Given the description of an element on the screen output the (x, y) to click on. 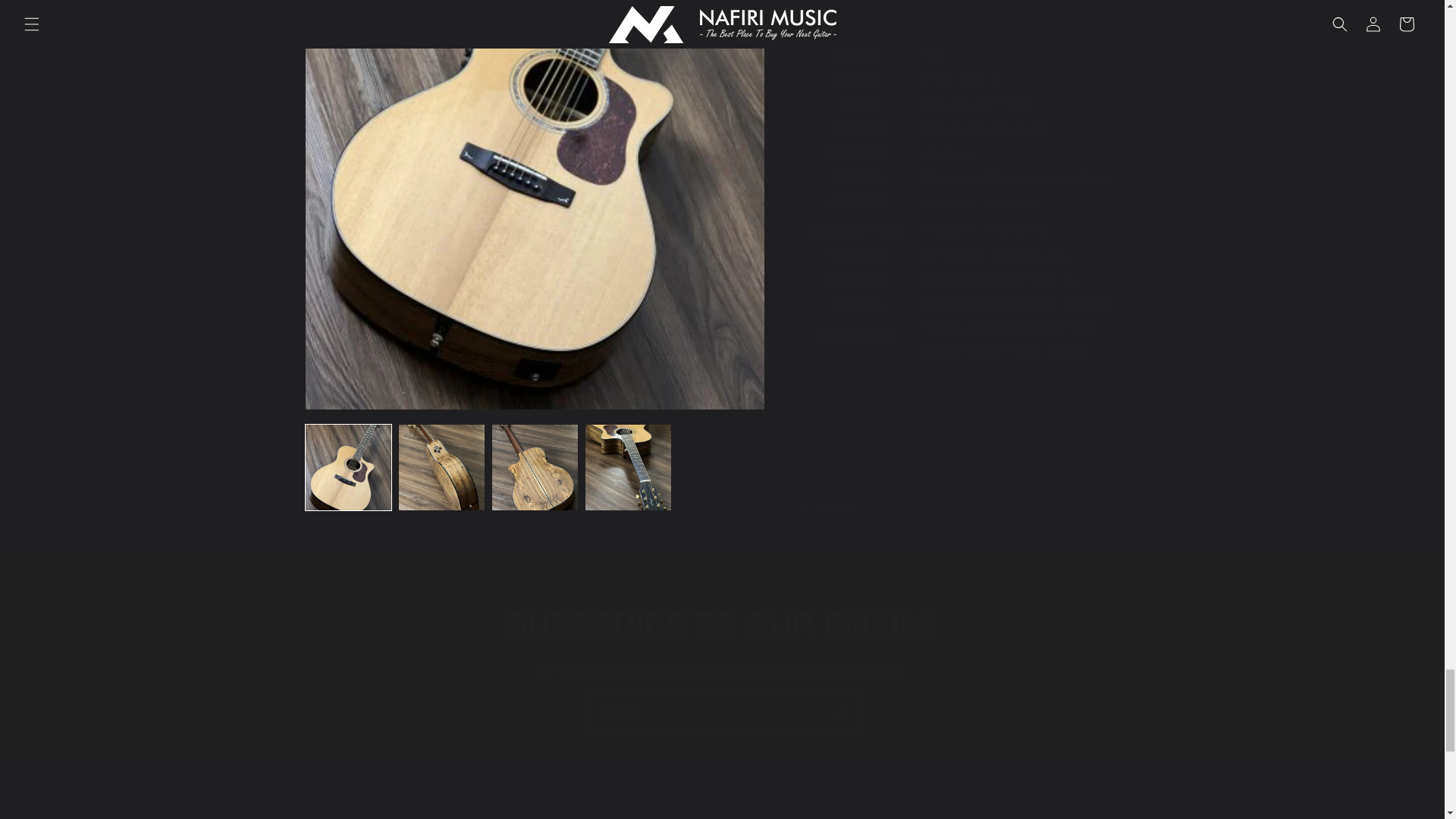
Email (722, 713)
SUBSCRIBE TO OUR EMAILS (721, 623)
